Given the description of an element on the screen output the (x, y) to click on. 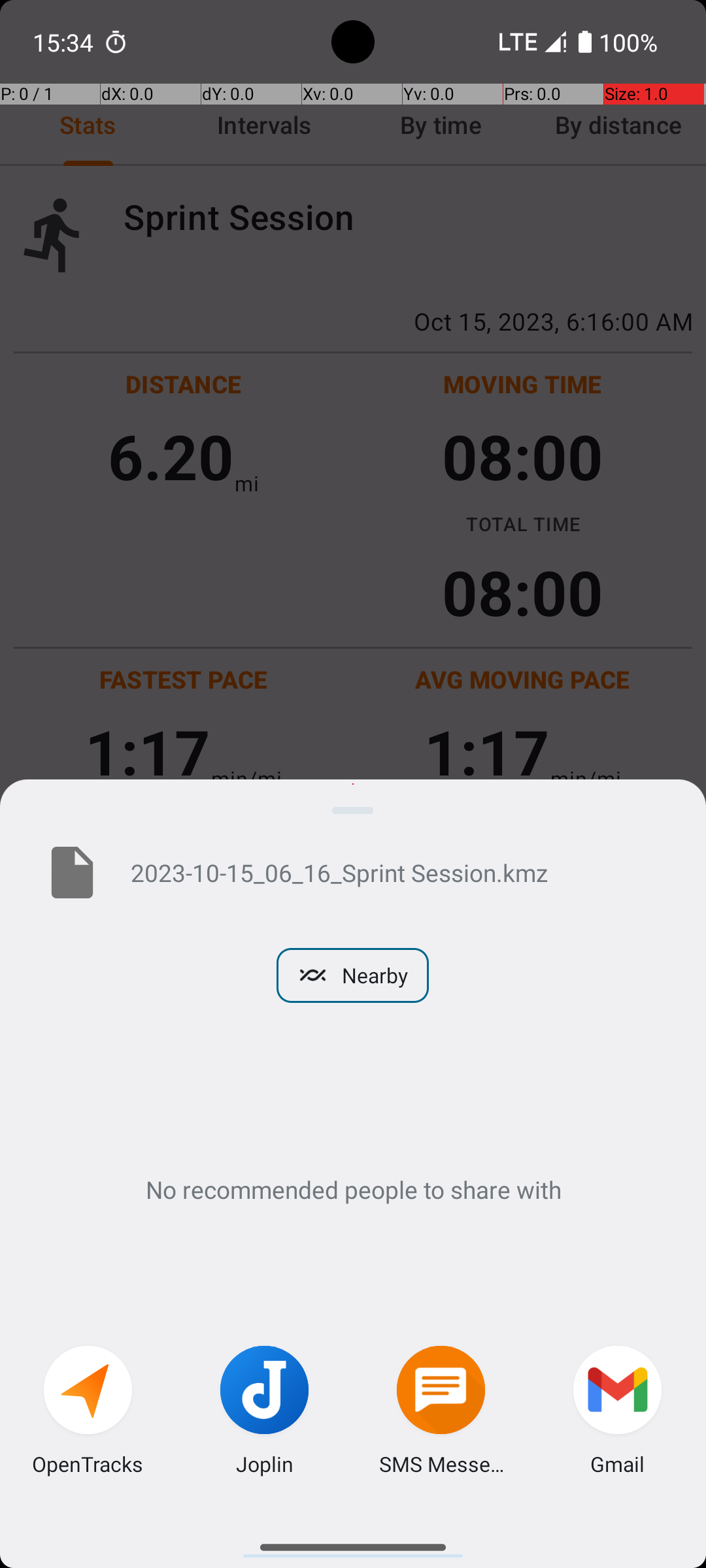
2023-10-15_06_16_Sprint Session.kmz Element type: android.widget.TextView (397, 872)
